Given the description of an element on the screen output the (x, y) to click on. 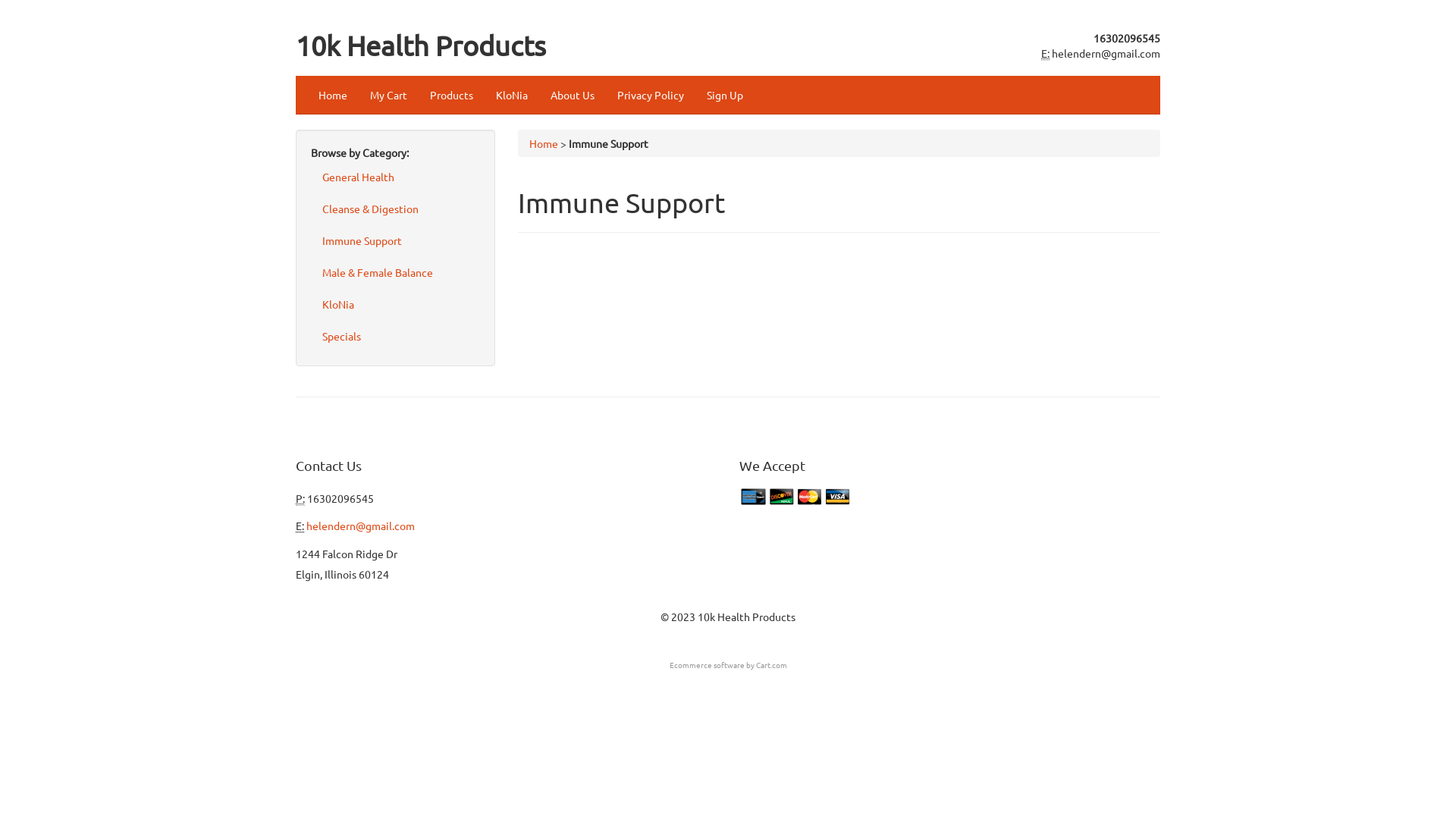
Sign Up Element type: text (724, 94)
helendern@gmail.com Element type: text (1105, 52)
KloNia Element type: text (395, 303)
Cart.com Element type: text (770, 664)
Privacy Policy Element type: text (650, 94)
Male & Female Balance Element type: text (395, 272)
Specials Element type: text (395, 335)
helendern@gmail.com Element type: text (360, 525)
General Health Element type: text (395, 176)
Immune Support Element type: text (395, 240)
About Us Element type: text (572, 94)
Home Element type: text (543, 143)
10k Health Products Element type: text (420, 44)
KloNia Element type: text (511, 94)
Cleanse & Digestion Element type: text (395, 208)
My Cart Element type: text (388, 94)
Home Element type: text (332, 94)
Products Element type: text (451, 94)
